Given the description of an element on the screen output the (x, y) to click on. 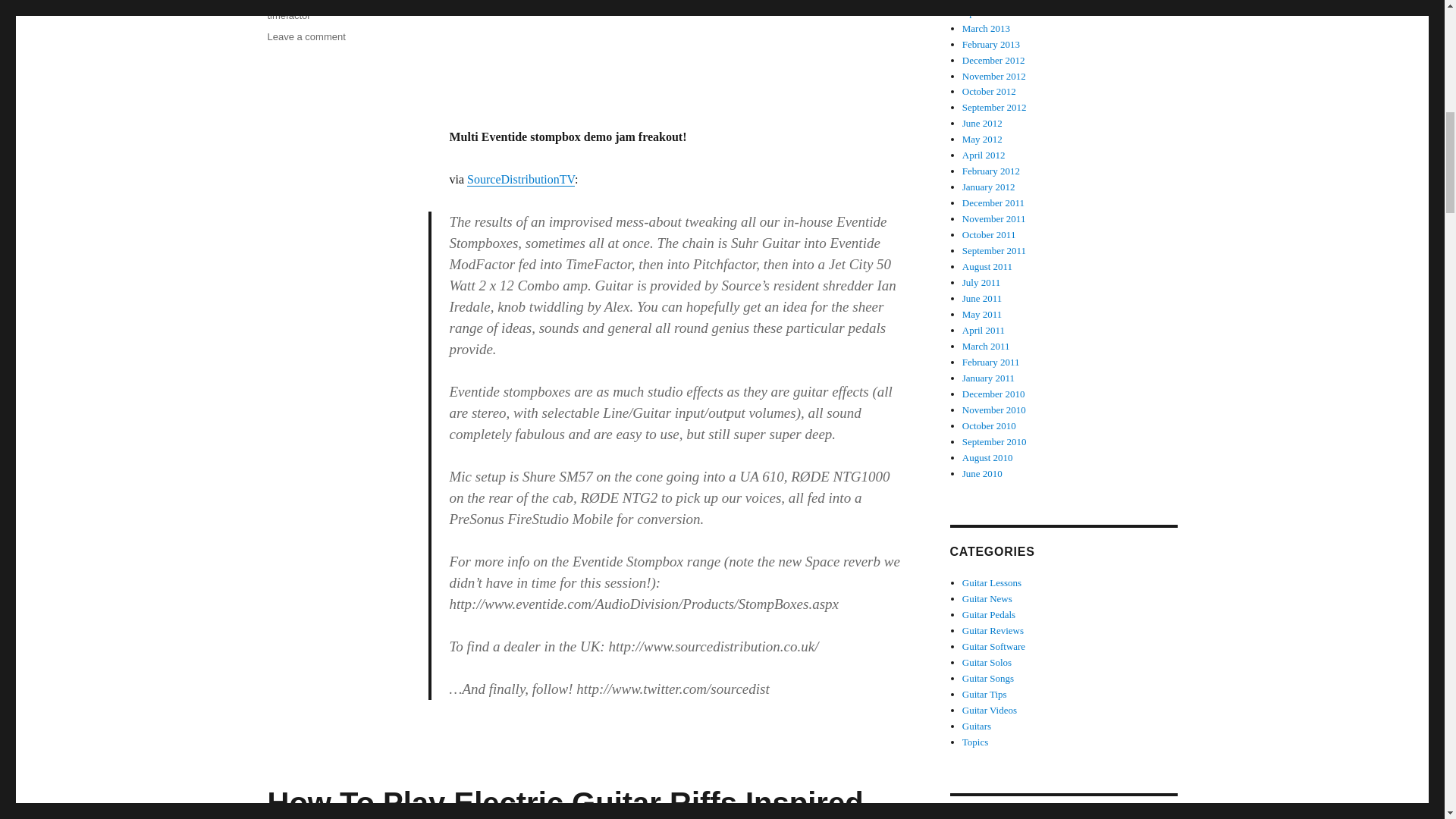
Techno (371, 2)
synthesized music (331, 2)
Synthesizer (323, 2)
timefactor (288, 15)
SourceDistributionTV (521, 178)
